Given the description of an element on the screen output the (x, y) to click on. 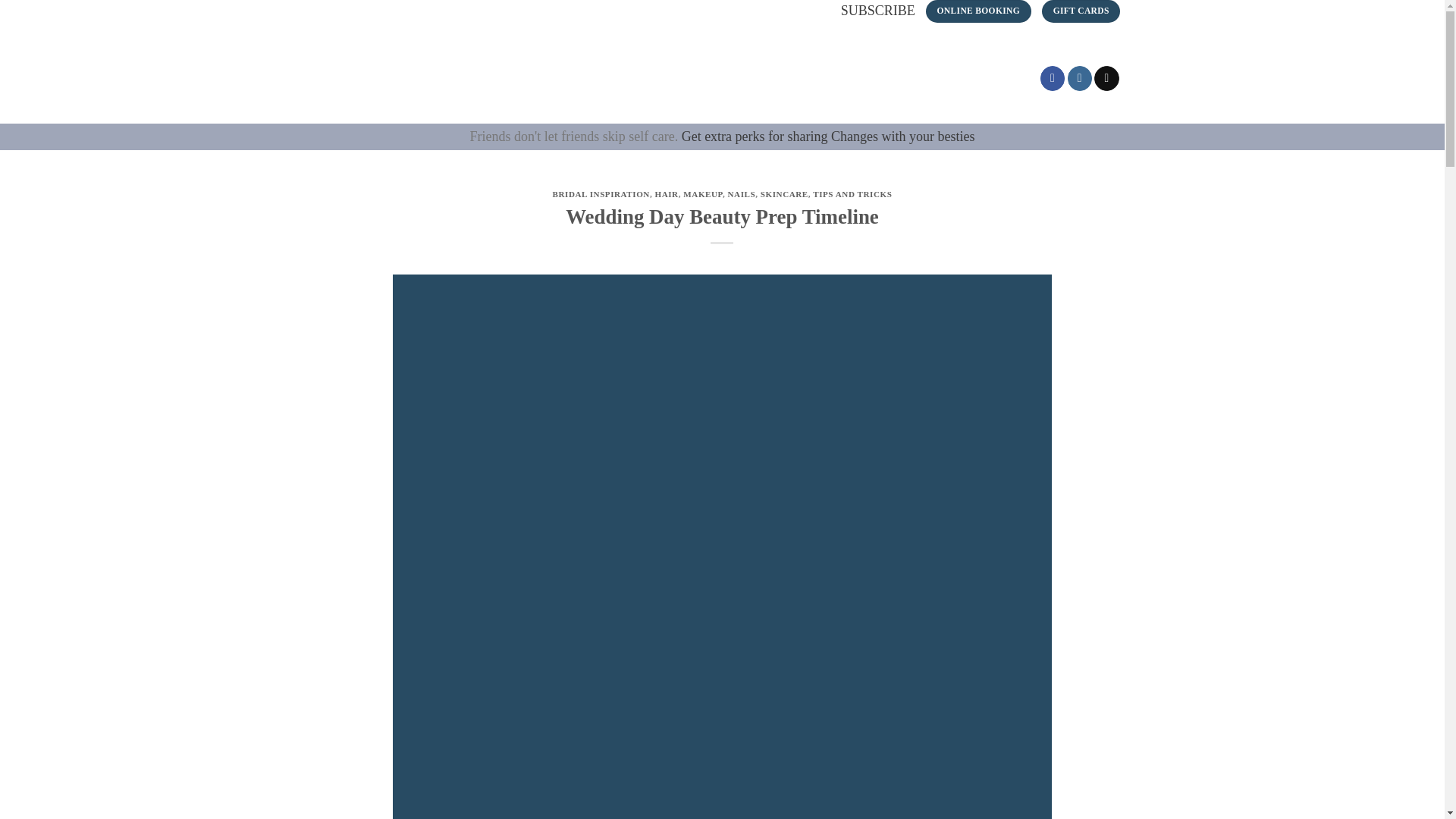
Send us an email (1106, 78)
ABOUT (692, 78)
SALON (526, 78)
Follow on Facebook (1053, 78)
Cart (1020, 78)
SUBSCRIBE (878, 10)
Changes Salon - Bay Area's Best Day Spa 2023 (400, 72)
GIFT CARDS (1081, 11)
ONLINE BOOKING (978, 11)
Follow on Instagram (1080, 78)
